Given the description of an element on the screen output the (x, y) to click on. 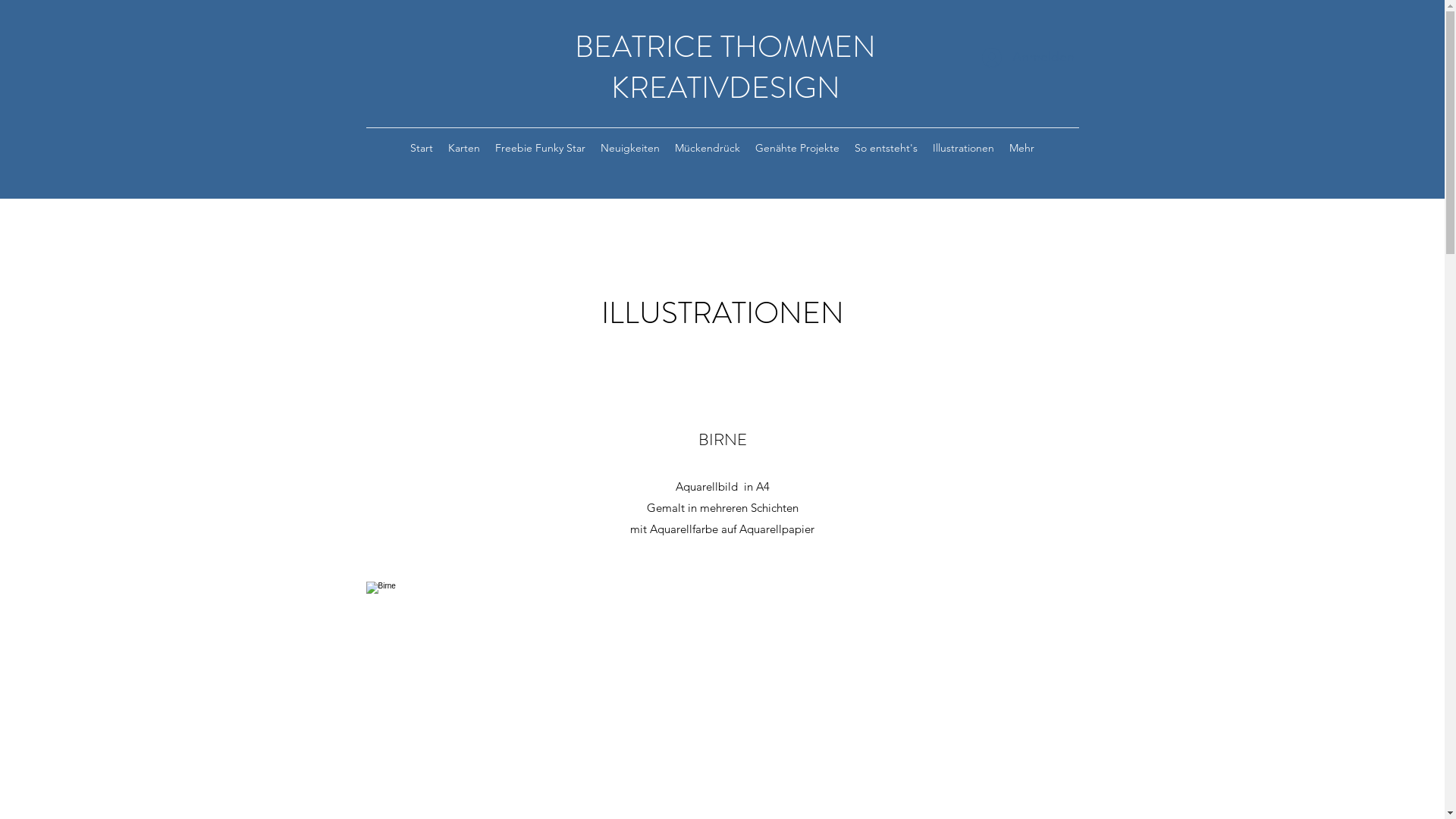
Karten Element type: text (463, 147)
Start Element type: text (421, 147)
Illustrationen Element type: text (963, 147)
Freebie Funky Star Element type: text (540, 147)
Anmelden Element type: text (1015, 57)
So entsteht's Element type: text (886, 147)
Neuigkeiten Element type: text (630, 147)
